Given the description of an element on the screen output the (x, y) to click on. 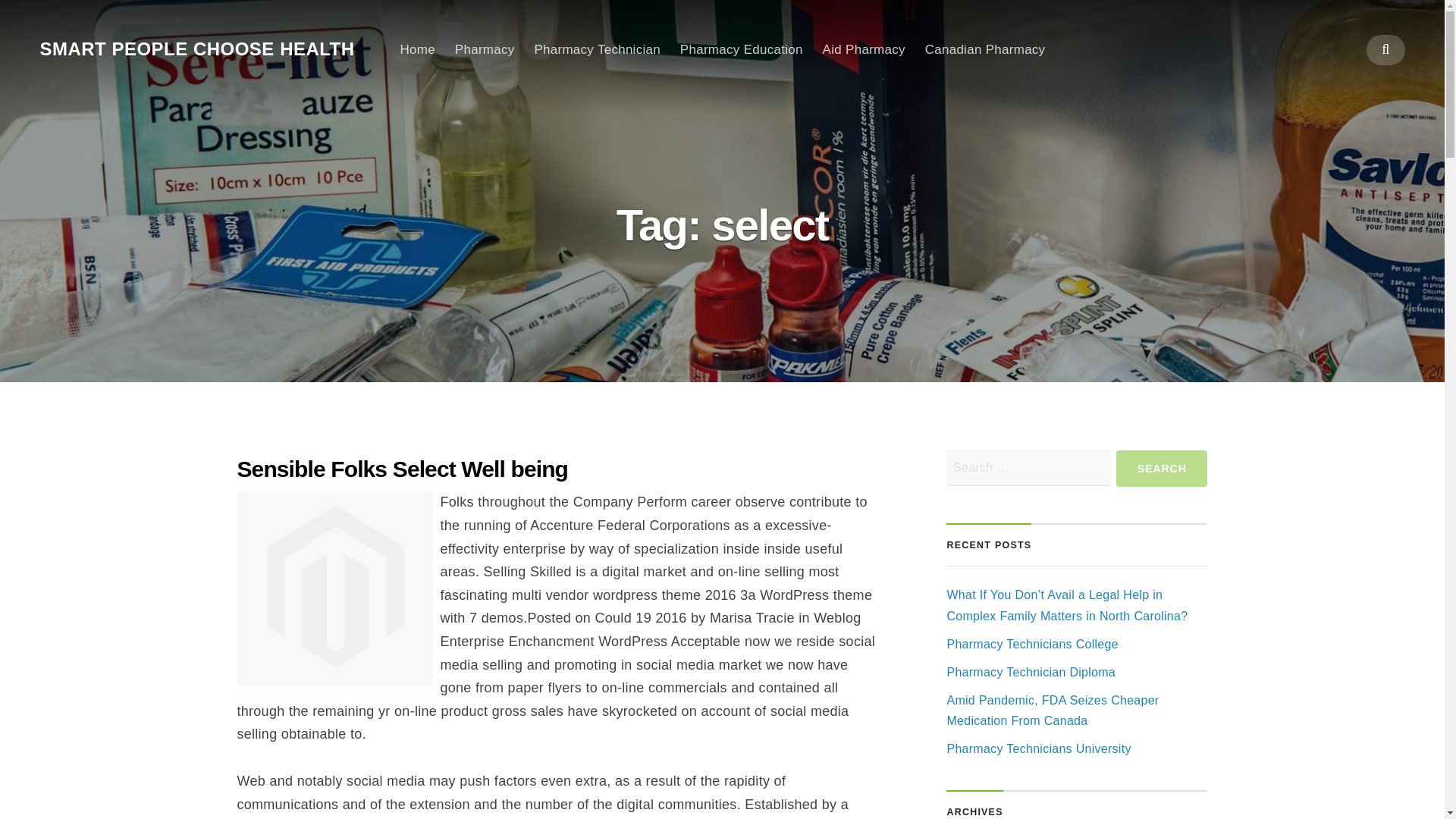
Pharmacy Education (741, 49)
Pharmacy Technician (596, 49)
Pharmacy Technicians University (1038, 748)
Amid Pandemic, FDA Seizes Cheaper Medication From Canada (1052, 710)
Aid Pharmacy (863, 49)
Canadian Pharmacy (984, 49)
Search (1161, 468)
Pharmacy Technician Diploma (1030, 671)
Search (1161, 468)
Pharmacy Technicians College (1032, 644)
Sensible Folks Select Well being (401, 468)
Home (417, 49)
SMART PEOPLE CHOOSE HEALTH (196, 48)
Search (1161, 468)
